Given the description of an element on the screen output the (x, y) to click on. 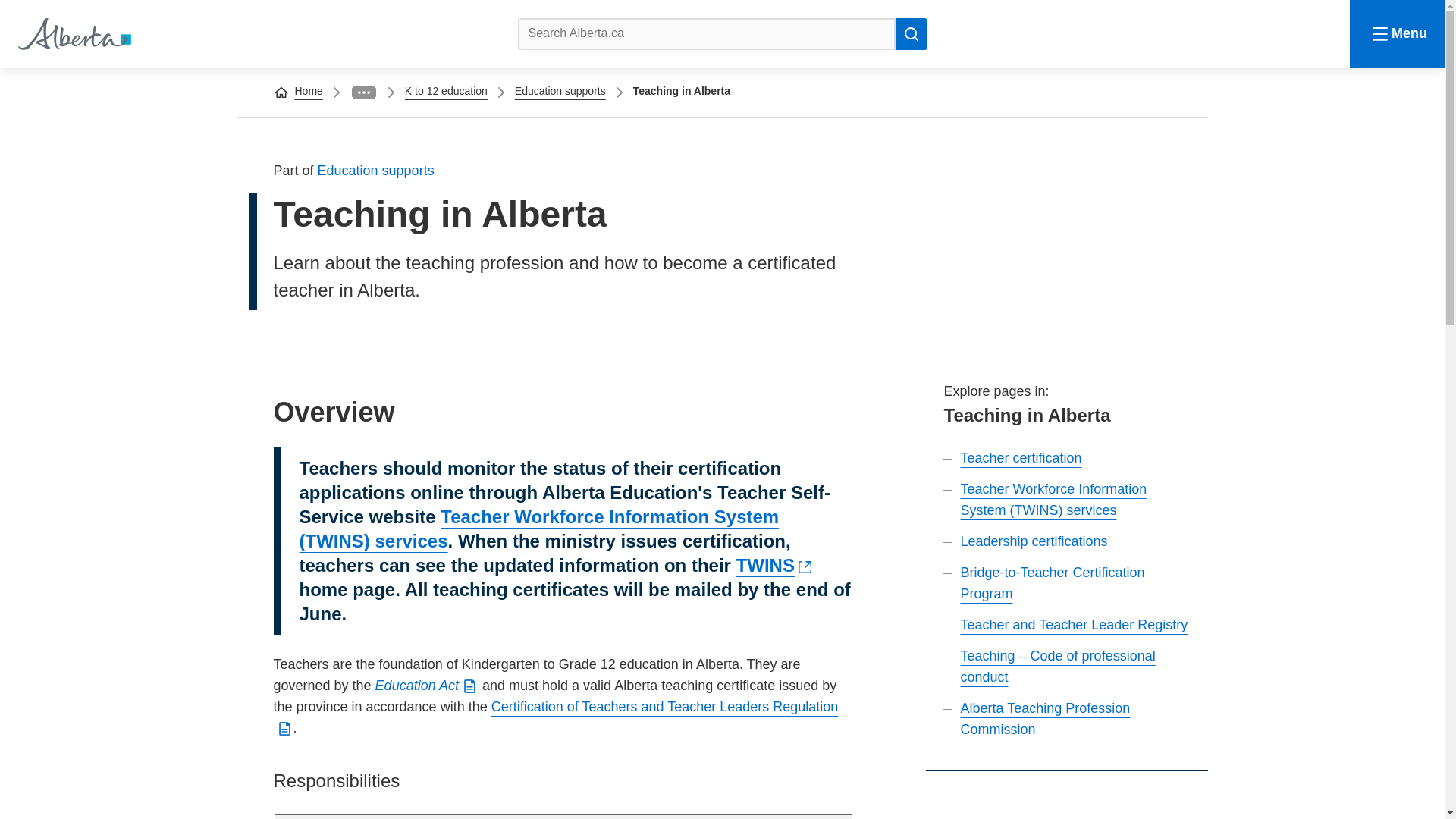
Home (73, 33)
Education supports (375, 170)
K to 12 education (445, 91)
Alberta.ca (73, 33)
Teacher certification (1020, 458)
Home (307, 91)
Education supports (560, 91)
